Given the description of an element on the screen output the (x, y) to click on. 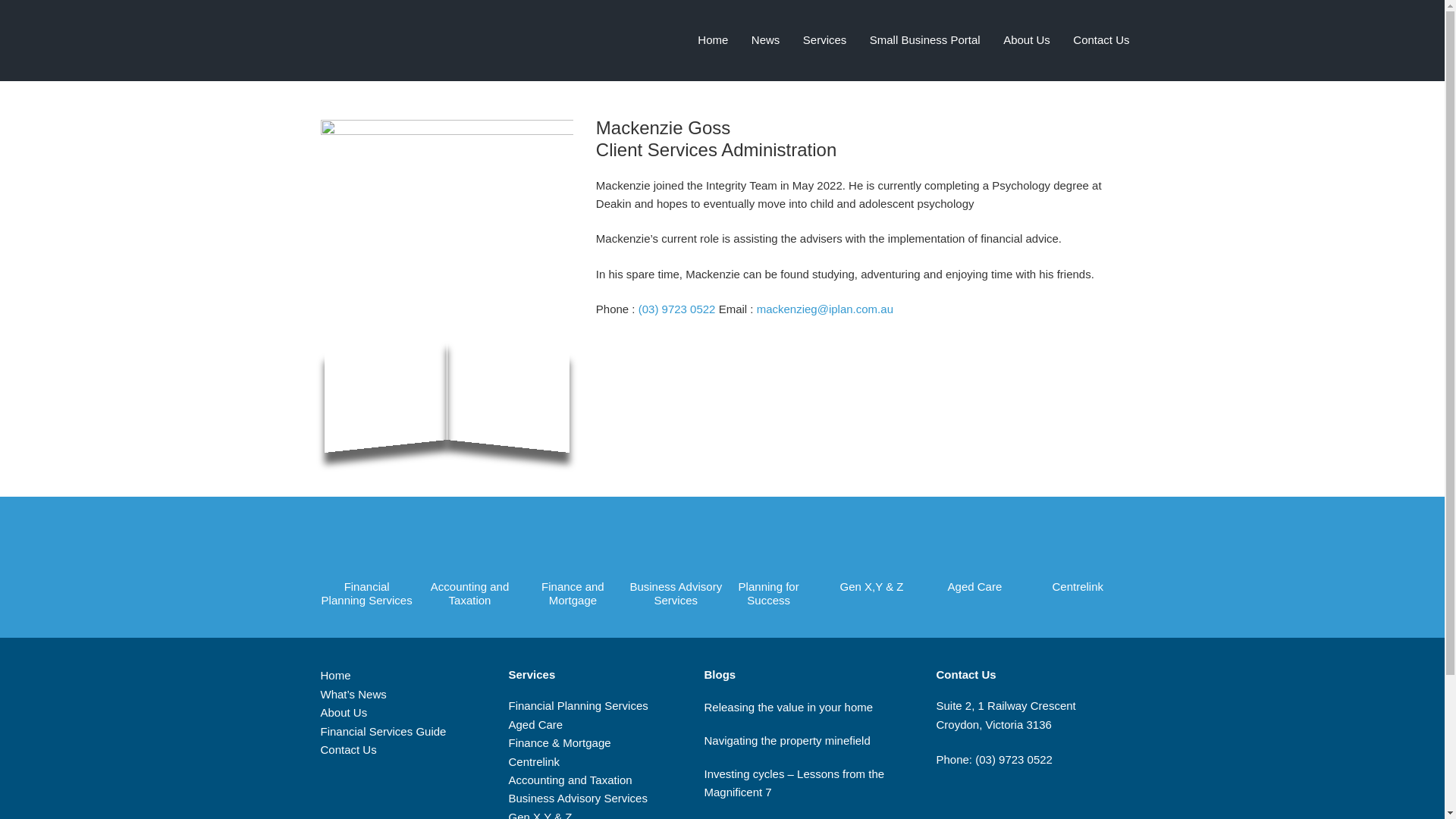
Finance and Mortgage (571, 567)
Contact Us (347, 748)
Centrelink (533, 761)
About Us (343, 712)
Financial Planning Services (366, 567)
Aged Care (535, 724)
Accounting and Taxation (469, 567)
Planning for Success (767, 567)
Centrelink (1077, 560)
Accounting and Taxation (569, 779)
